Given the description of an element on the screen output the (x, y) to click on. 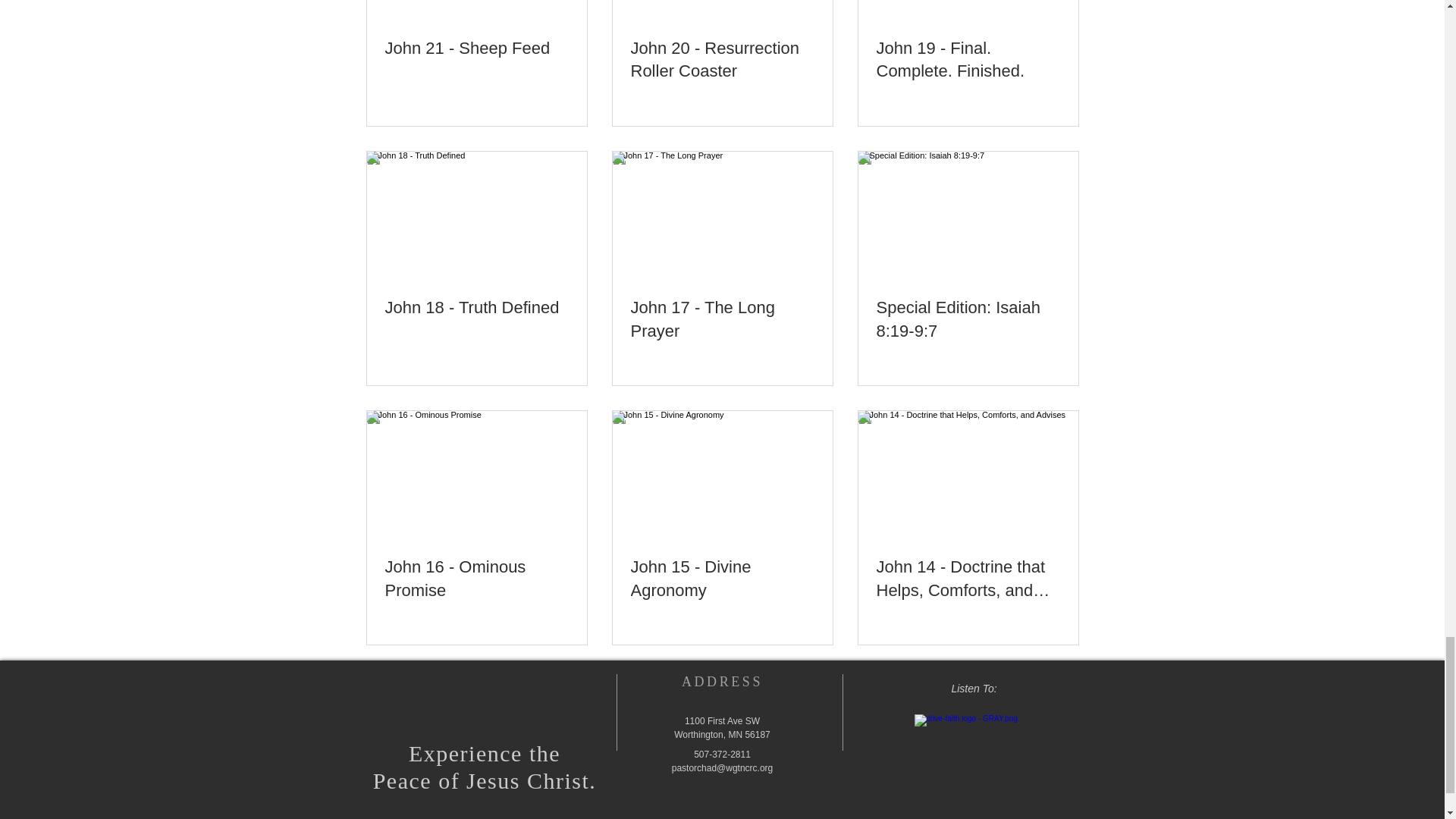
John 21 - Sheep Feed (477, 48)
John 20 - Resurrection Roller Coaster (721, 60)
John 19 - Final. Complete. Finished. (967, 60)
